Given the description of an element on the screen output the (x, y) to click on. 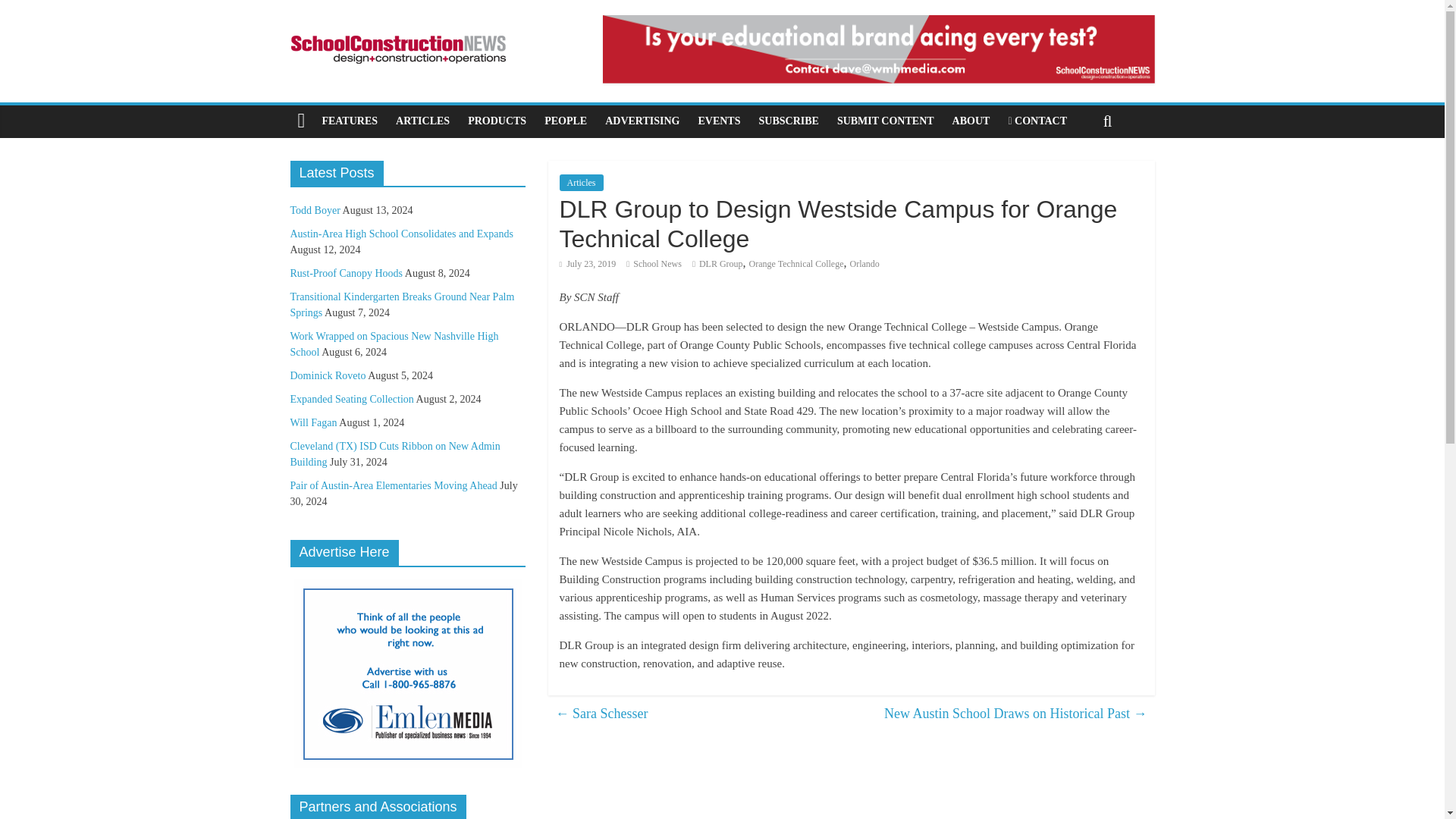
EVENTS (718, 121)
Will Fagan (312, 422)
PRODUCTS (496, 121)
Pair of Austin-Area Elementaries Moving Ahead (392, 485)
Orlando (863, 263)
SUBSCRIBE (788, 121)
CONTACT (1036, 121)
PEOPLE (565, 121)
Austin-Area High School Consolidates and Expands (400, 233)
Articles (581, 182)
